Given the description of an element on the screen output the (x, y) to click on. 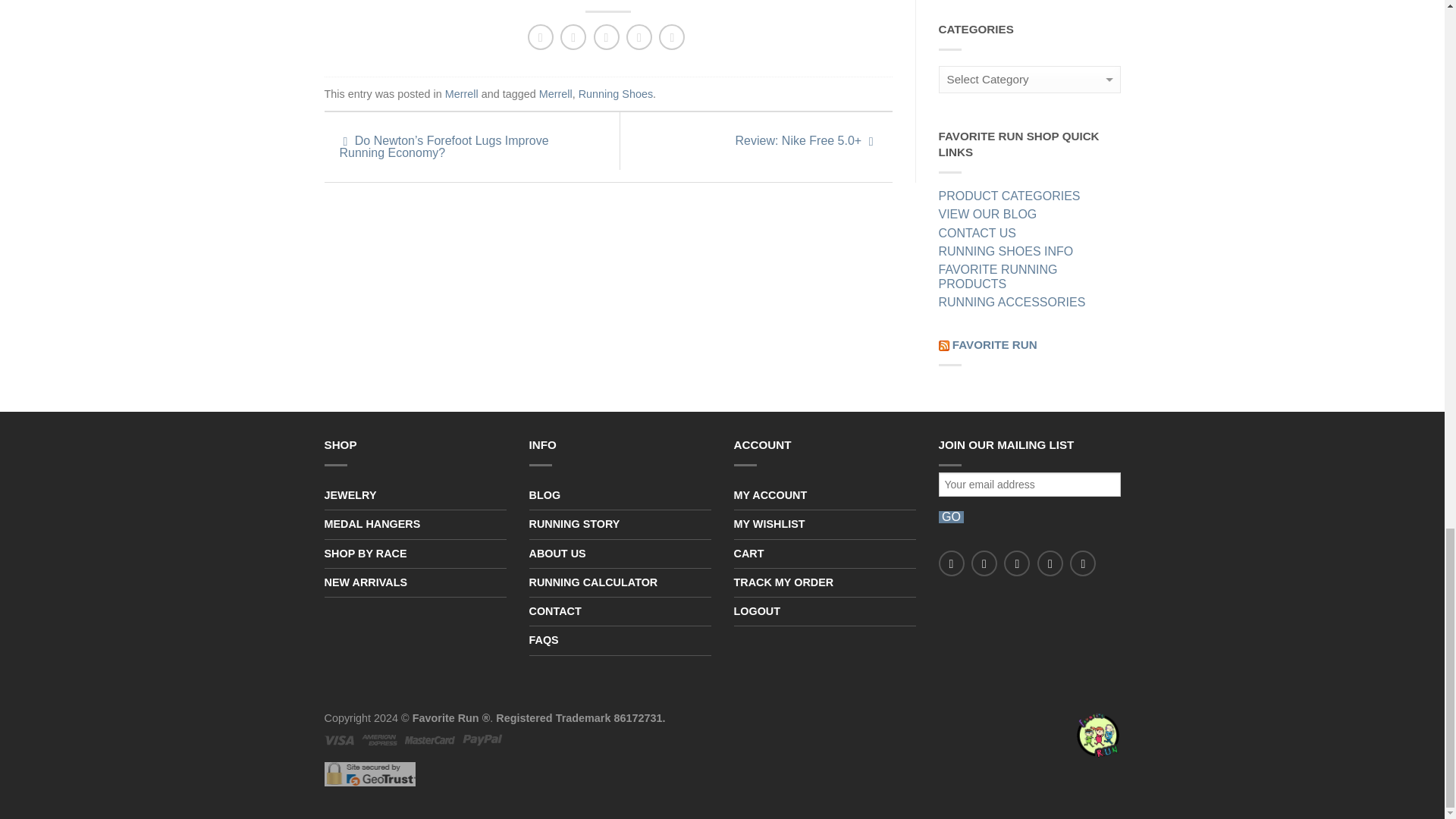
 GO  (951, 517)
